Given the description of an element on the screen output the (x, y) to click on. 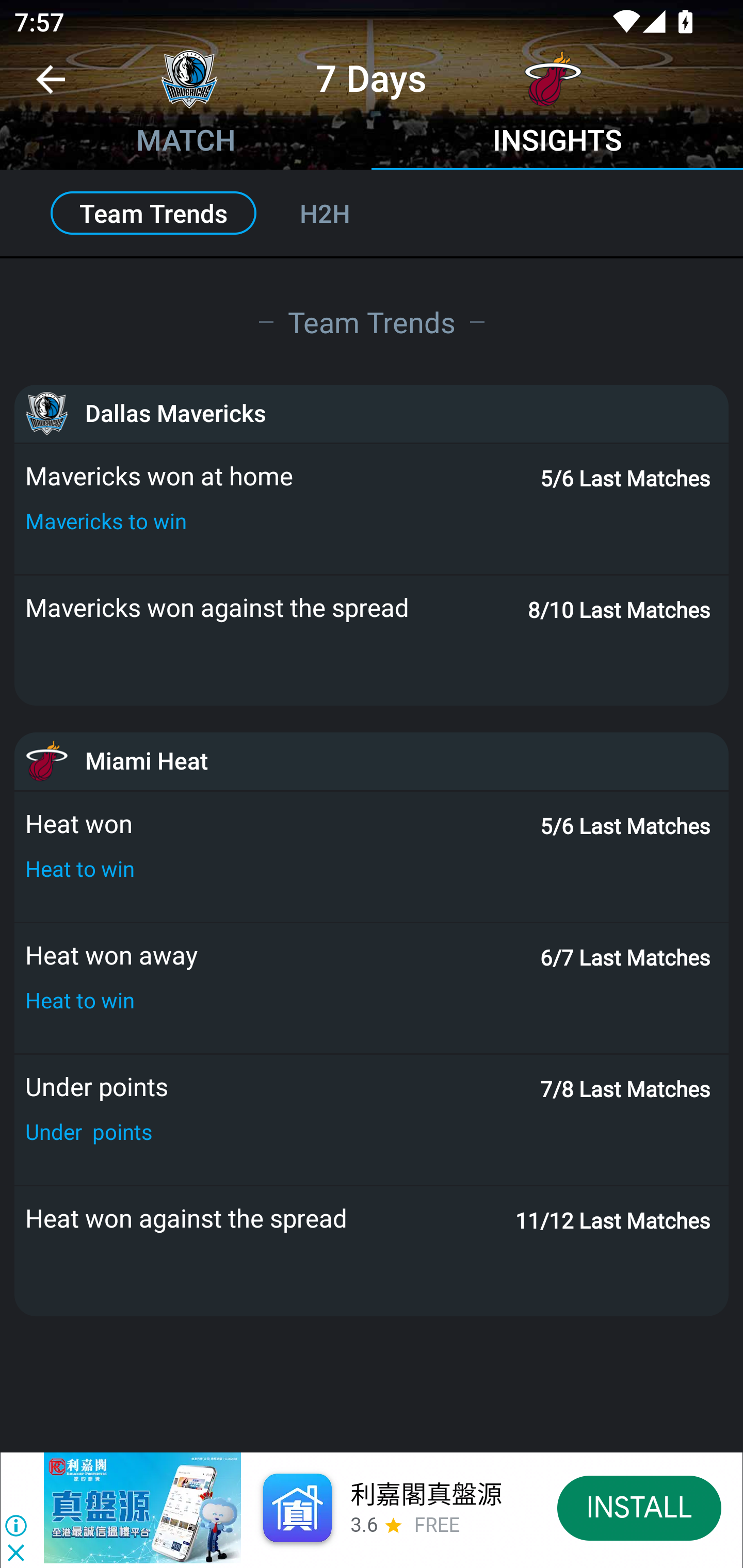
Navigate up (50, 86)
MATCH (185, 142)
INSIGHTS (557, 142)
H2H (346, 212)
Team Trends (371, 321)
Dallas Mavericks (371, 413)
Mavericks won against the spread 8/10 Last Matches (371, 640)
Miami Heat (371, 761)
Heat won 5/6 Last Matches Heat to win (371, 856)
Heat won away 6/7 Last Matches Heat to win (371, 988)
Under points 7/8 Last Matches Under  points (371, 1120)
Heat won against the spread 11/12 Last Matches (371, 1250)
INSTALL (639, 1507)
利嘉閣真盤源 (425, 1494)
